Given the description of an element on the screen output the (x, y) to click on. 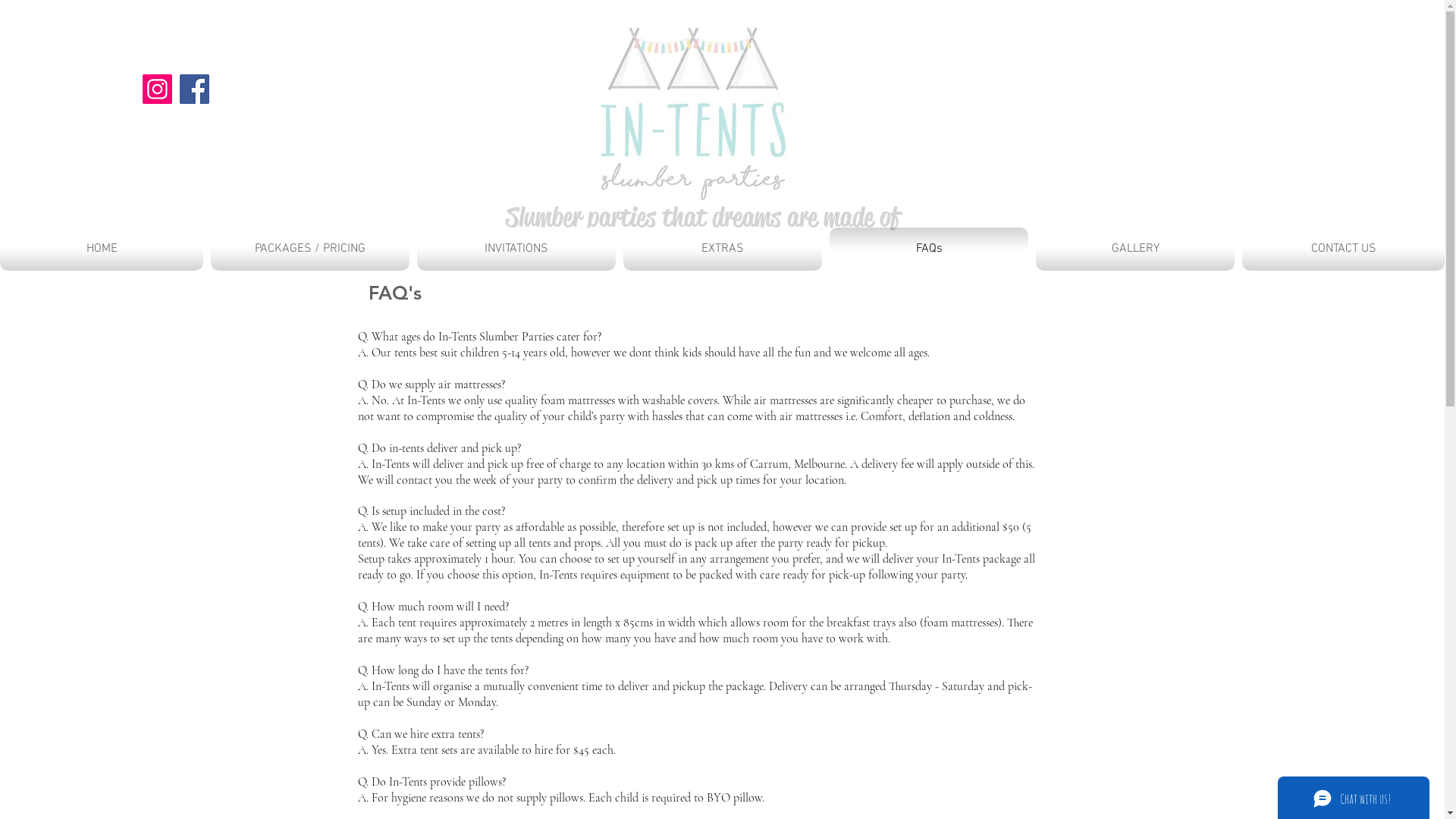
ININTENTSslumberparties-02.jpg Element type: hover (691, 110)
GALLERY Element type: text (1135, 248)
EXTRAS Element type: text (722, 248)
FAQs Element type: text (928, 248)
PACKAGES / PRICING Element type: text (310, 248)
CONTACT US Element type: text (1341, 248)
HOME Element type: text (103, 248)
INVITATIONS Element type: text (516, 248)
